Given the description of an element on the screen output the (x, y) to click on. 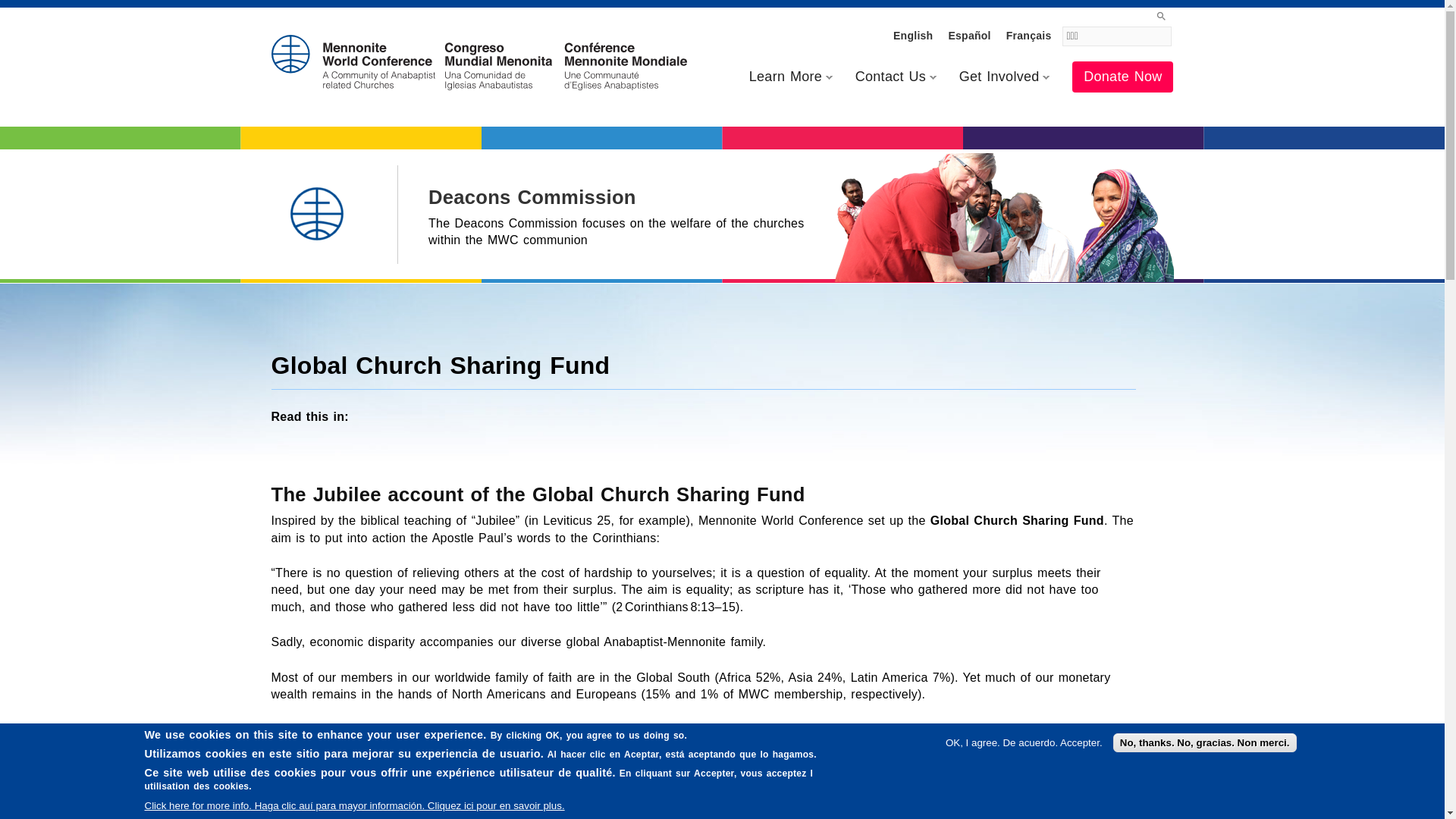
English (913, 35)
